Given the description of an element on the screen output the (x, y) to click on. 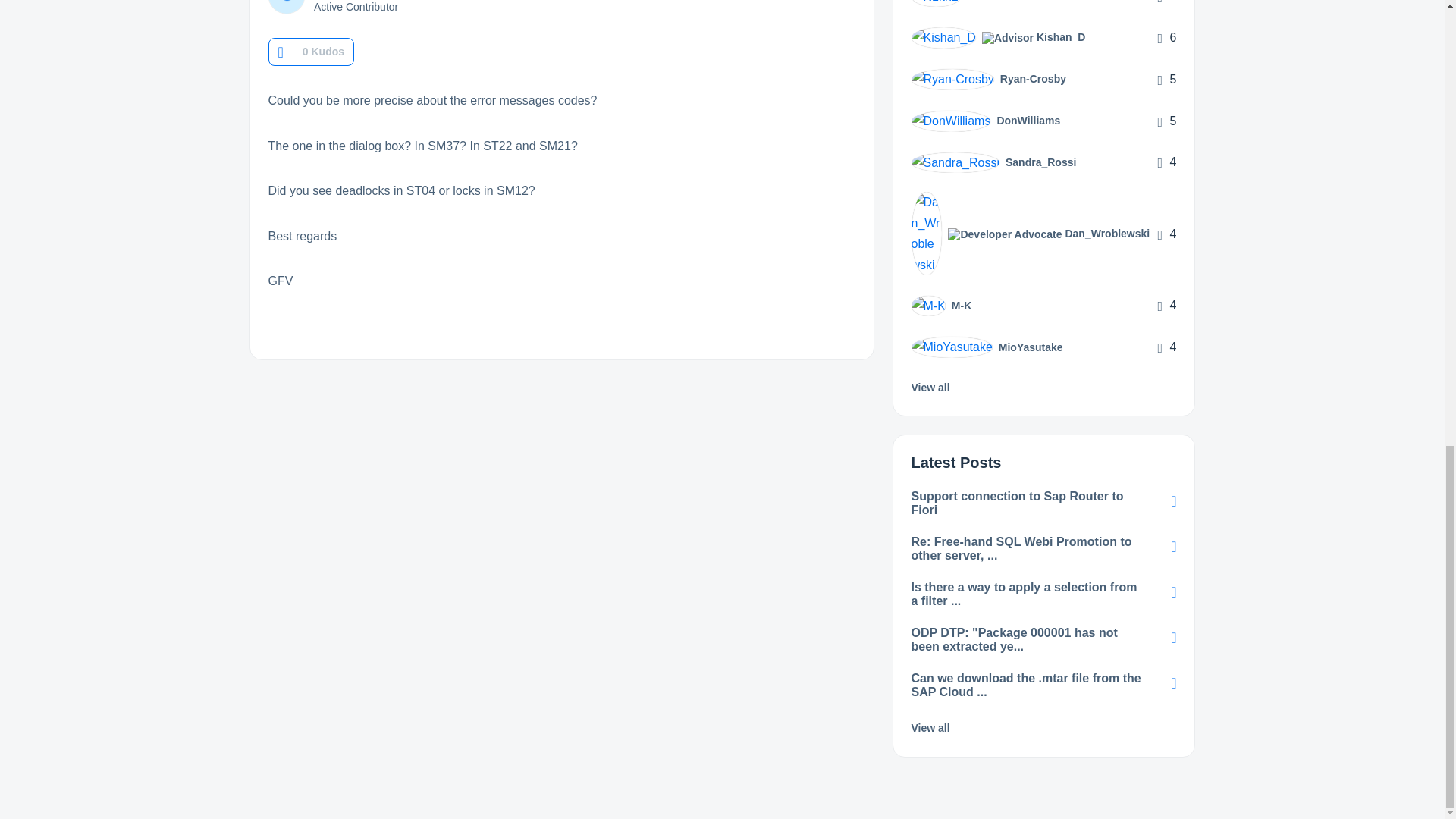
GFV (285, 6)
